Given the description of an element on the screen output the (x, y) to click on. 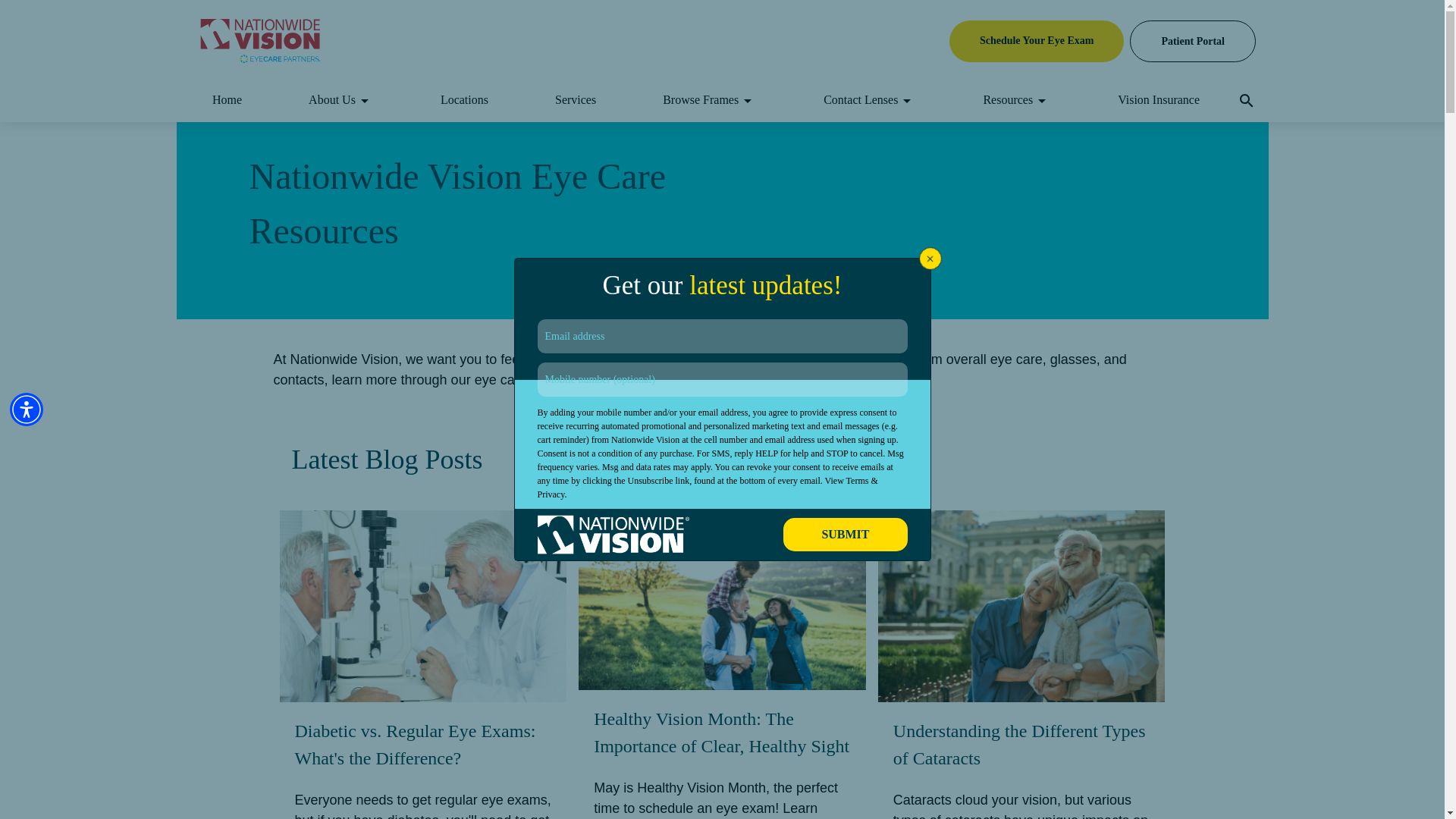
Vision Insurance (1158, 100)
Services (575, 100)
Accessibility Menu (26, 409)
Patient Portal (1192, 40)
Schedule Your Eye Exam (1036, 40)
Home (227, 100)
Locations (464, 100)
